Given the description of an element on the screen output the (x, y) to click on. 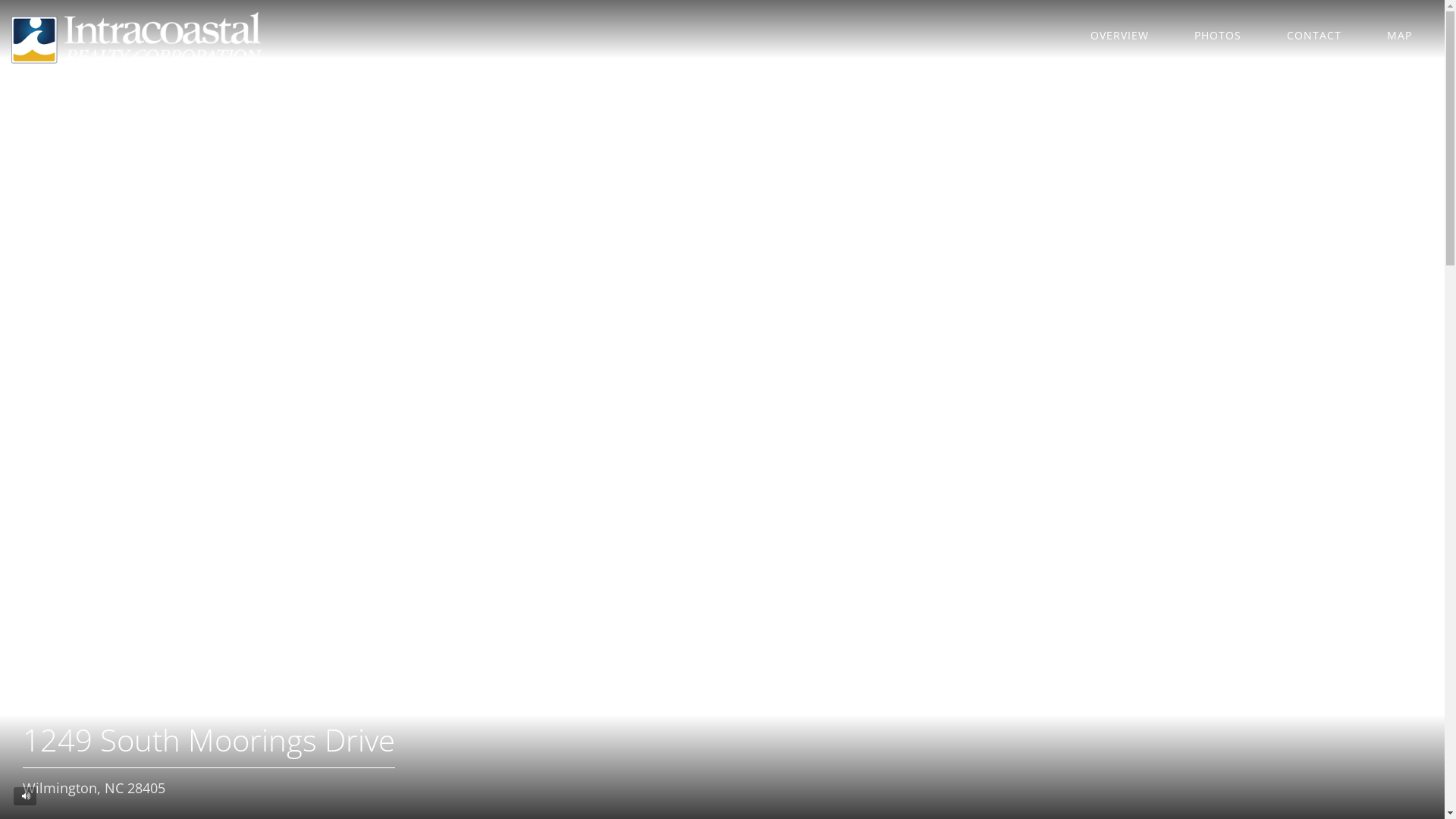
CONTACT Element type: text (1313, 34)
MAP Element type: text (1399, 34)
PHOTOS Element type: text (1217, 34)
OVERVIEW Element type: text (1119, 34)
